Given the description of an element on the screen output the (x, y) to click on. 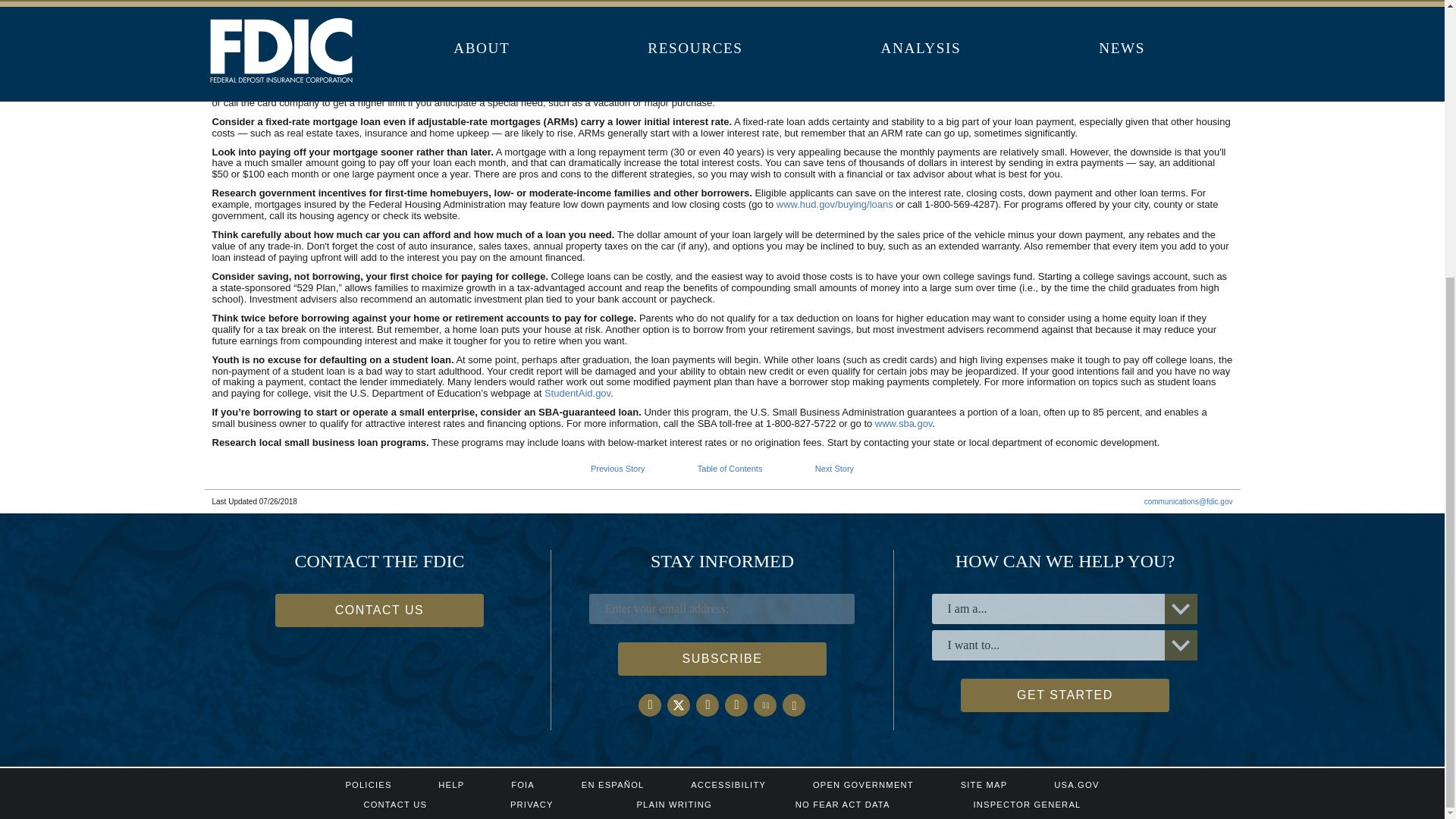
www.sba.gov (904, 423)
Table of Contents (729, 468)
CONTACT US (379, 610)
Follow the FDIC on Instagram (707, 704)
StudentAid.gov (577, 392)
Previous Story (618, 468)
SUBSCRIBE (722, 658)
Follow the FDIC on LinkedIn (736, 704)
Follow the FDIC on Facebook (765, 704)
